Given the description of an element on the screen output the (x, y) to click on. 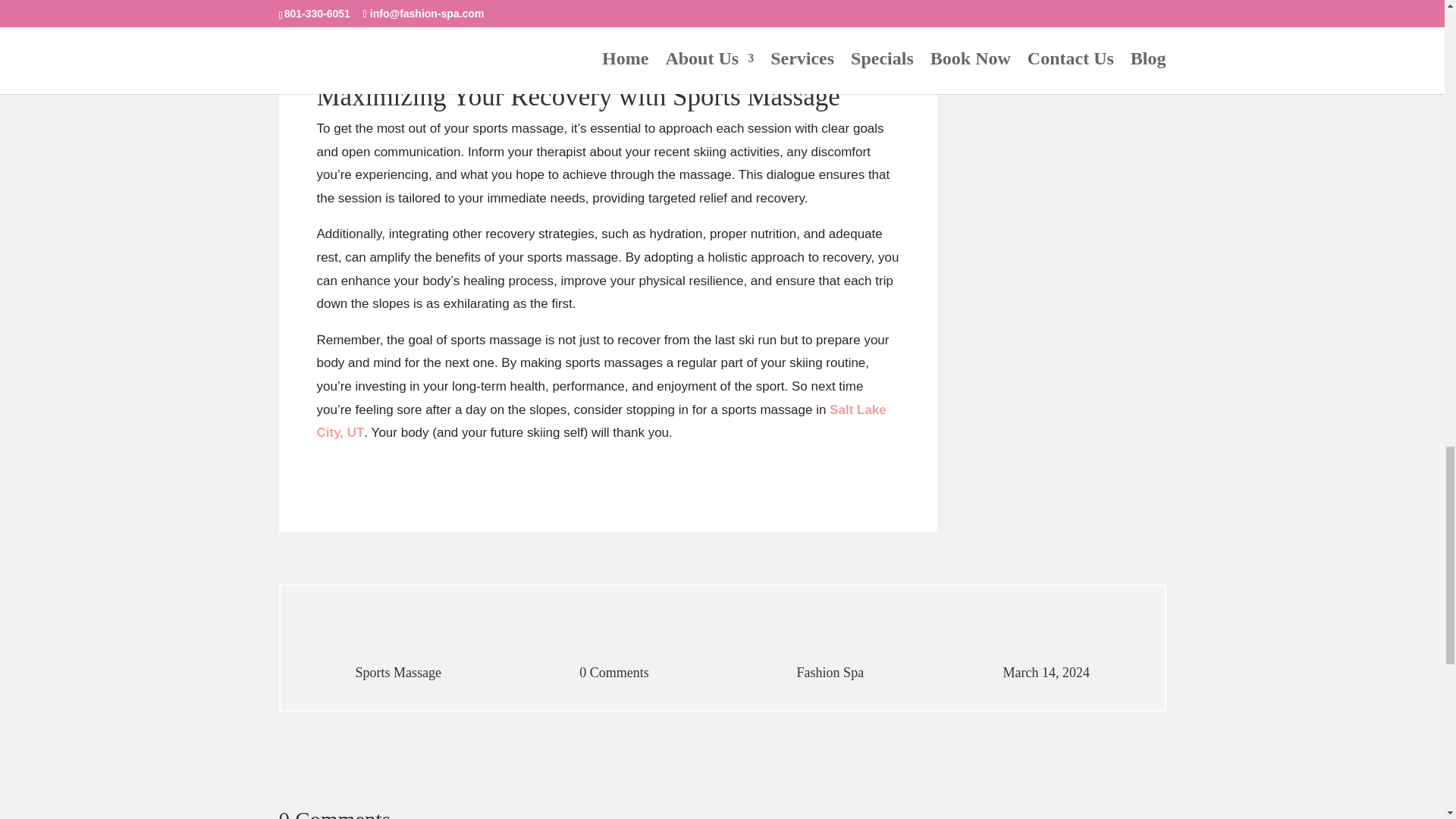
0 Comments (614, 672)
Sports Massage (398, 672)
Salt Lake City, UT (601, 420)
